Given the description of an element on the screen output the (x, y) to click on. 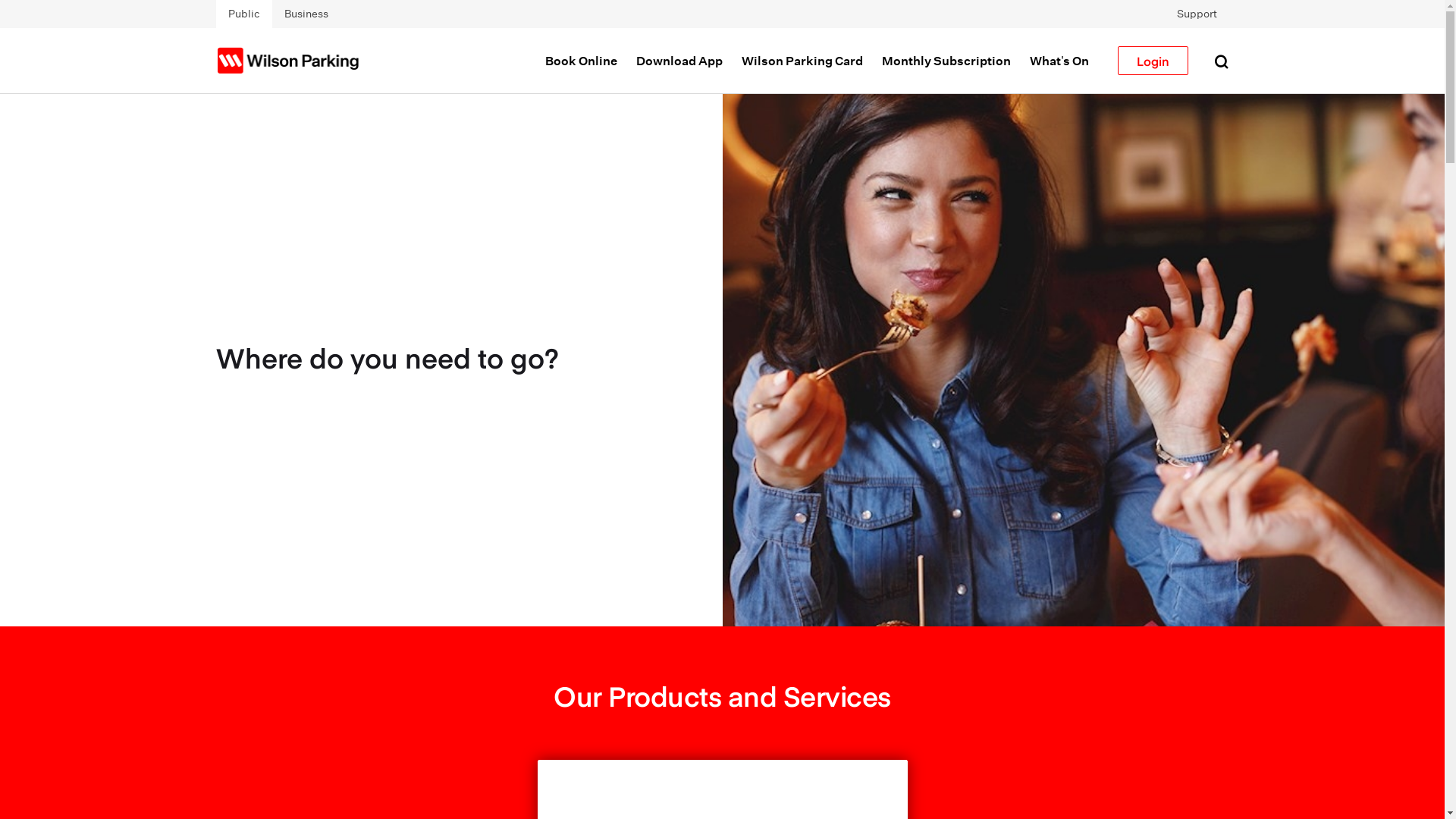
Monthly Subscription Element type: text (945, 60)
Business Element type: text (305, 14)
What's On Element type: text (1058, 60)
Support Element type: text (1196, 14)
Public Element type: text (243, 14)
Download App Element type: text (679, 60)
Wilson Parking Card Element type: text (801, 60)
Book Online Element type: text (581, 60)
Login Element type: text (1152, 60)
